Given the description of an element on the screen output the (x, y) to click on. 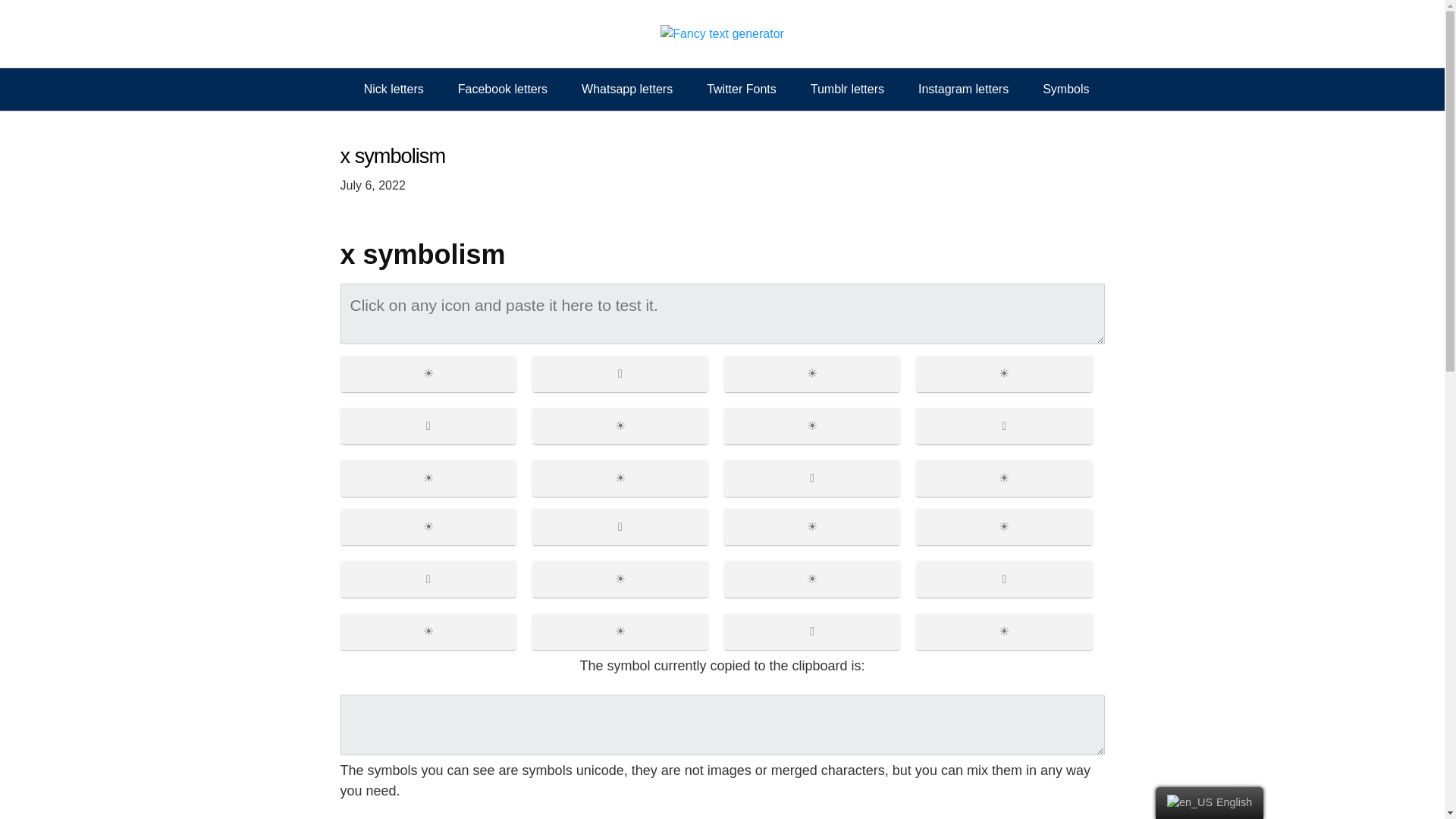
Tumblr letters (846, 88)
Symbols (1065, 88)
Nick letters (394, 88)
English (1189, 802)
Facebook letters (502, 88)
Whatsapp letters (626, 88)
Instagram letters (962, 88)
Twitter Fonts (741, 88)
